Given the description of an element on the screen output the (x, y) to click on. 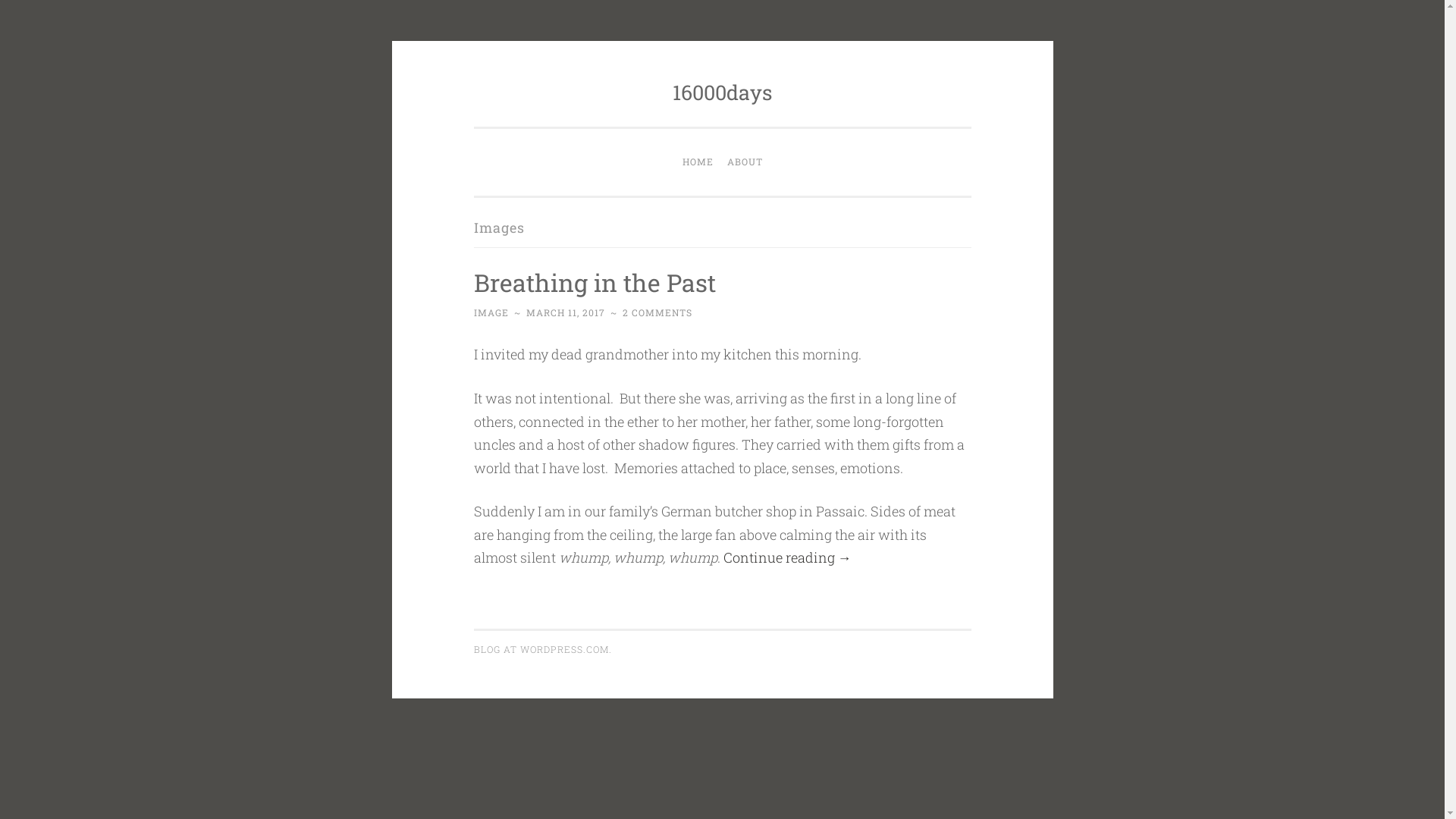
MARCH 11, 2017 Element type: text (565, 312)
2 COMMENTS Element type: text (656, 312)
Breathing in the Past Element type: text (594, 282)
ABOUT Element type: text (744, 162)
HOME Element type: text (696, 162)
BLOG AT WORDPRESS.COM. Element type: text (542, 649)
IMAGE Element type: text (490, 312)
16000days Element type: text (721, 91)
